Given the description of an element on the screen output the (x, y) to click on. 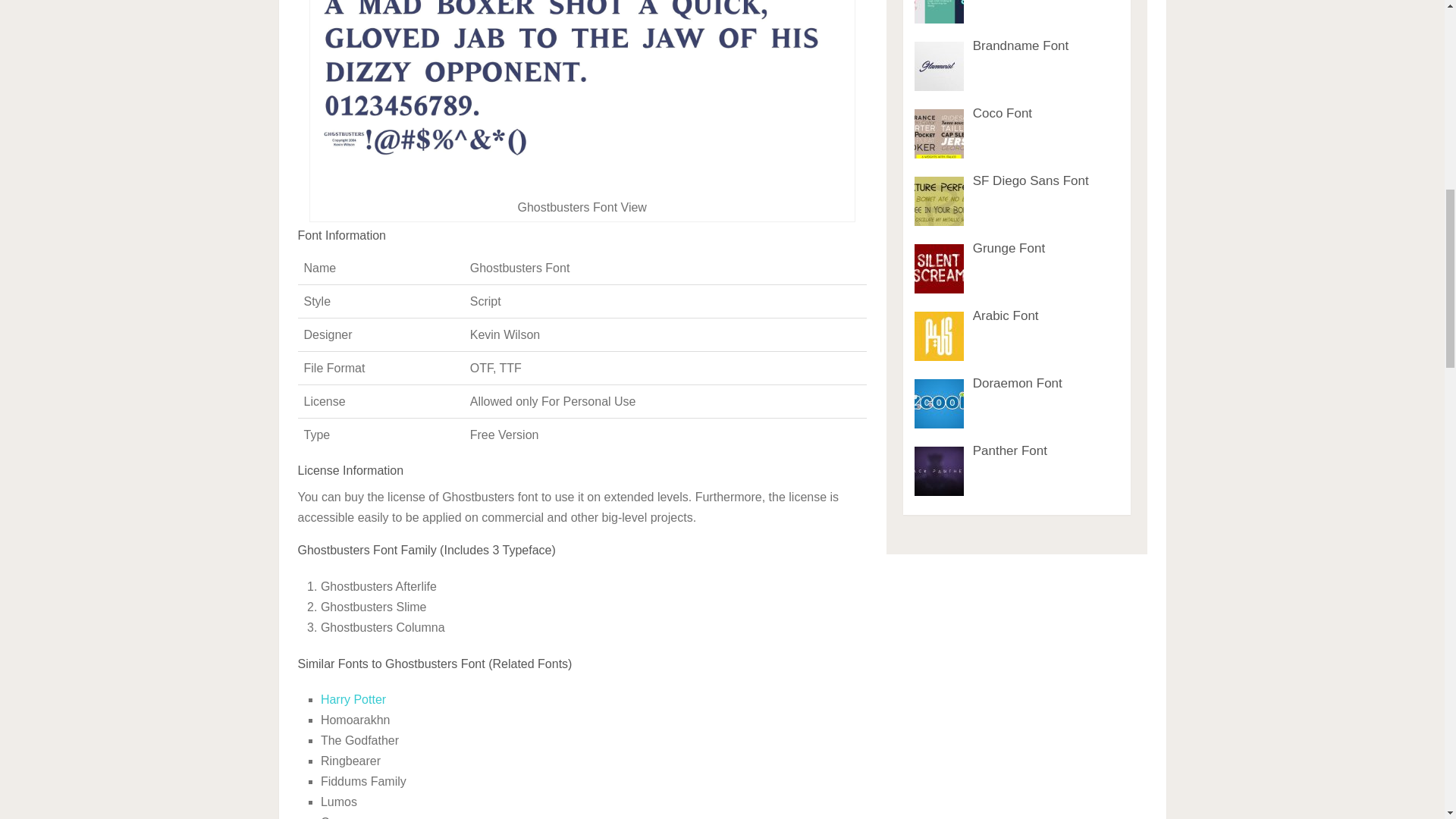
Harry Potter (352, 698)
